Given the description of an element on the screen output the (x, y) to click on. 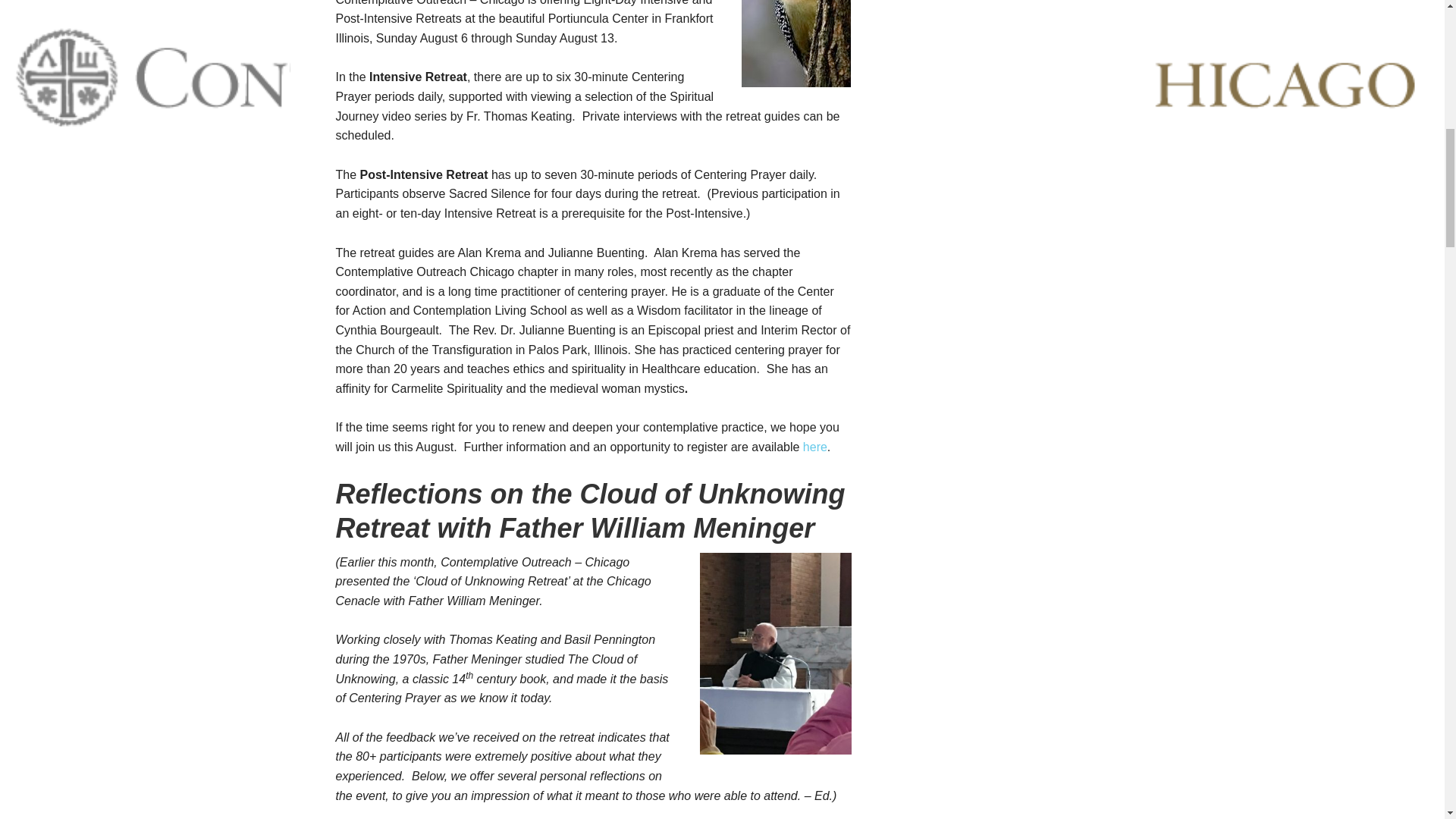
here (815, 446)
